Given the description of an element on the screen output the (x, y) to click on. 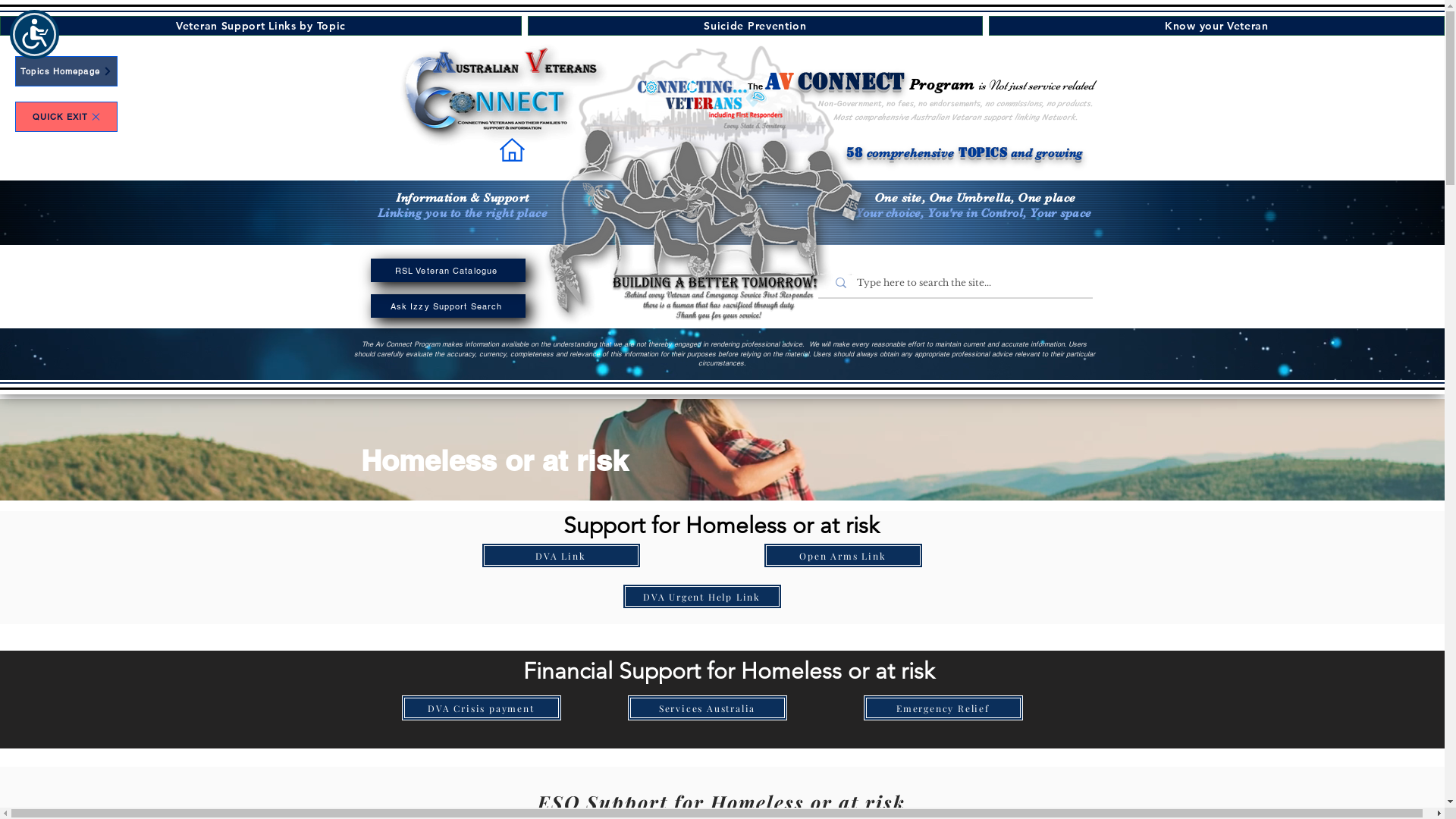
DVA Link Element type: text (560, 554)
DVA Crisis payment Element type: text (481, 707)
QUICK EXIT Element type: text (66, 116)
Know your Veteran Element type: text (1216, 25)
Open Arms Link Element type: text (842, 554)
DVA Urgent Help Link Element type: text (701, 595)
Topics Homepage Element type: text (66, 71)
Ask Izzy Support Search Element type: text (447, 305)
Emergency Relief Element type: text (942, 707)
Services Australia Element type: text (707, 707)
RSL Veteran Catalogue Element type: text (447, 270)
Suicide Prevention Element type: text (754, 25)
Veteran Support Links by Topic Element type: text (260, 25)
